Given the description of an element on the screen output the (x, y) to click on. 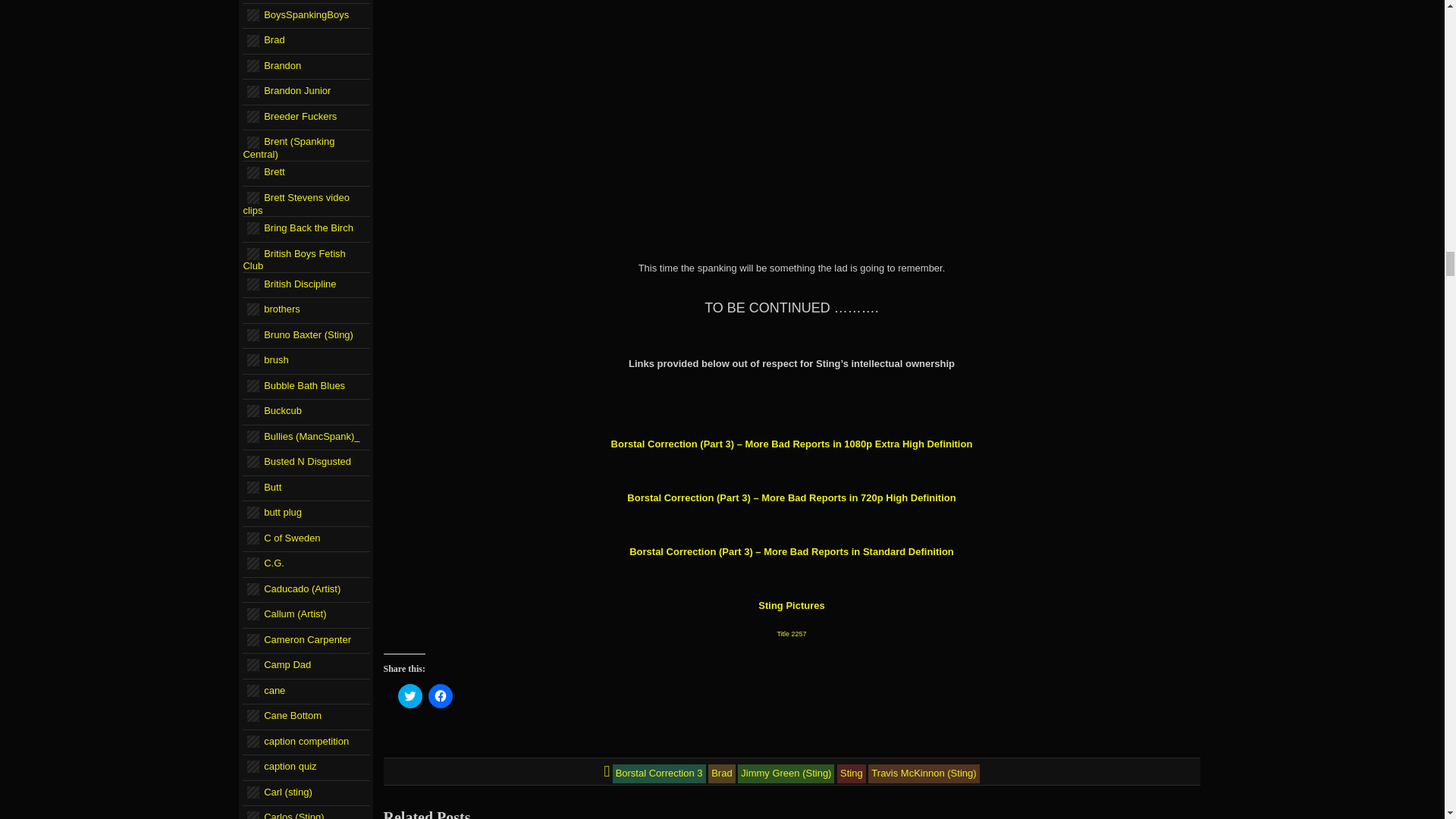
Click to share on Twitter (409, 695)
Brad (721, 772)
Borstal Correction 3 (659, 772)
Sting Pictures (791, 604)
Title 2257 (791, 633)
Click to share on Facebook (440, 695)
